Given the description of an element on the screen output the (x, y) to click on. 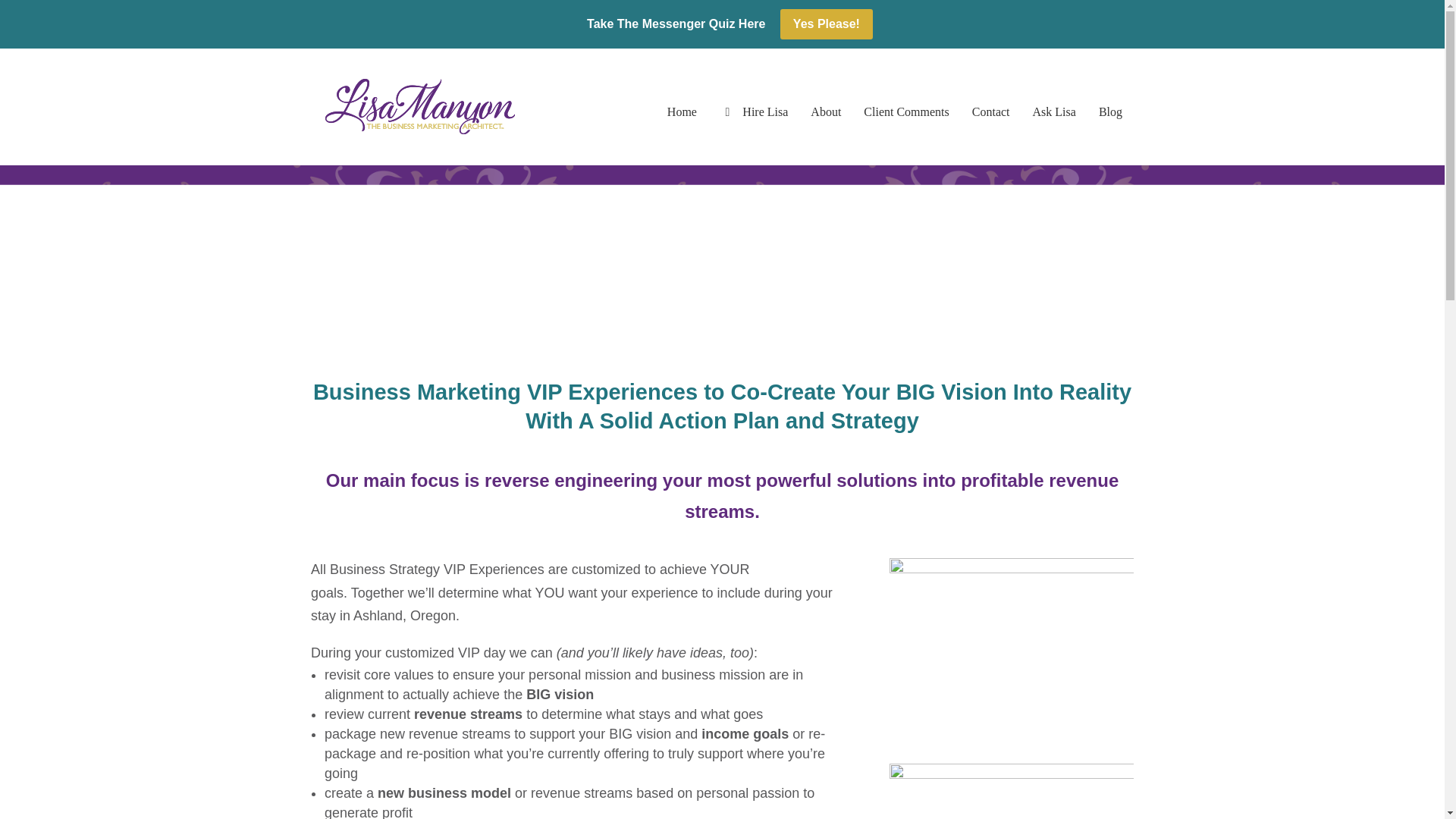
Ask Lisa (1054, 129)
Yes Please! (825, 23)
Client Comments (905, 129)
Hire Lisa (753, 129)
Take The Messenger Quiz Here (675, 28)
